Given the description of an element on the screen output the (x, y) to click on. 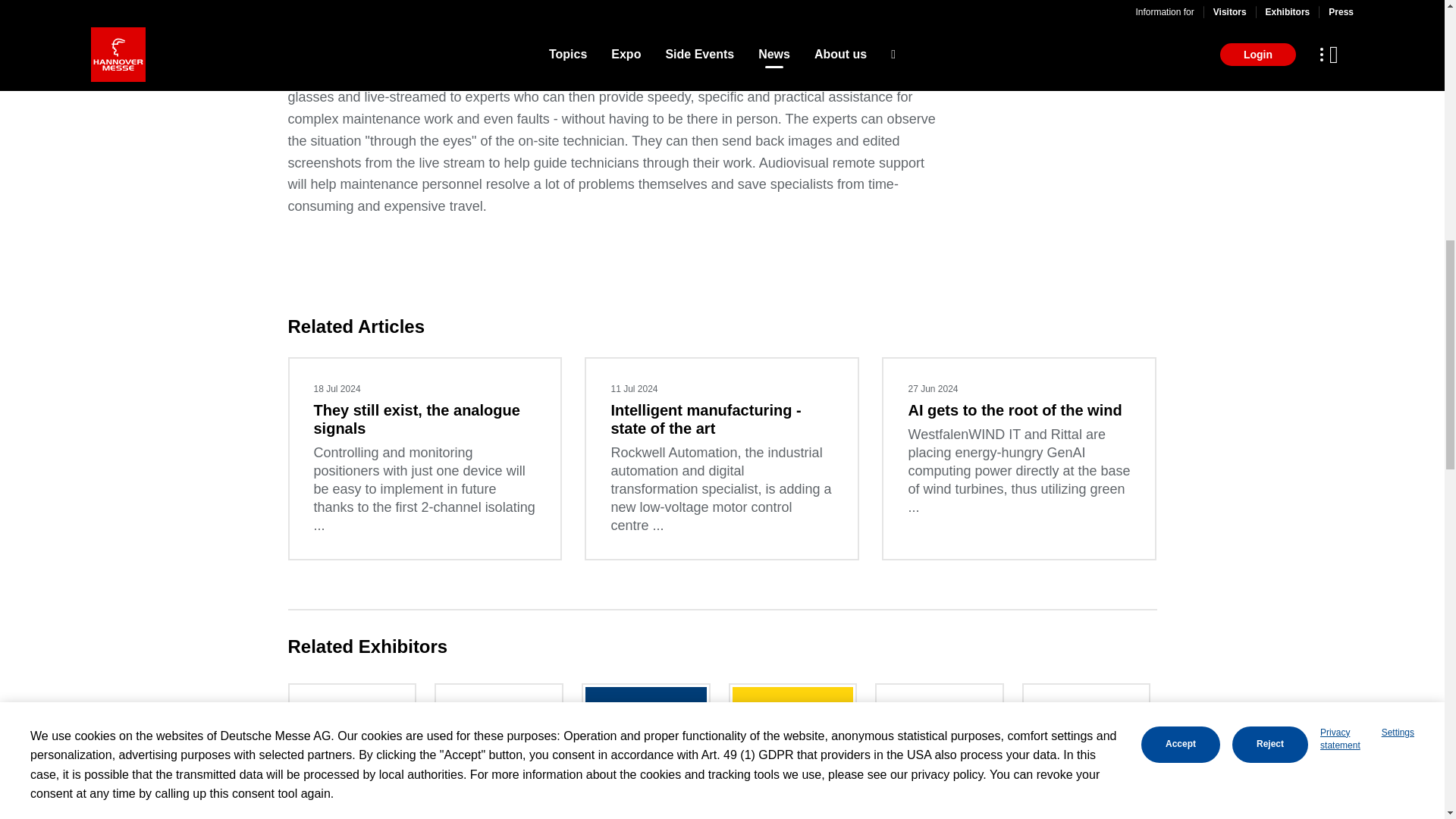
TURCK (792, 751)
Micro Sensor (645, 751)
IBG-Automation (352, 751)
Emerson Discrete Automation (498, 751)
steute Technologies (939, 751)
